Given the description of an element on the screen output the (x, y) to click on. 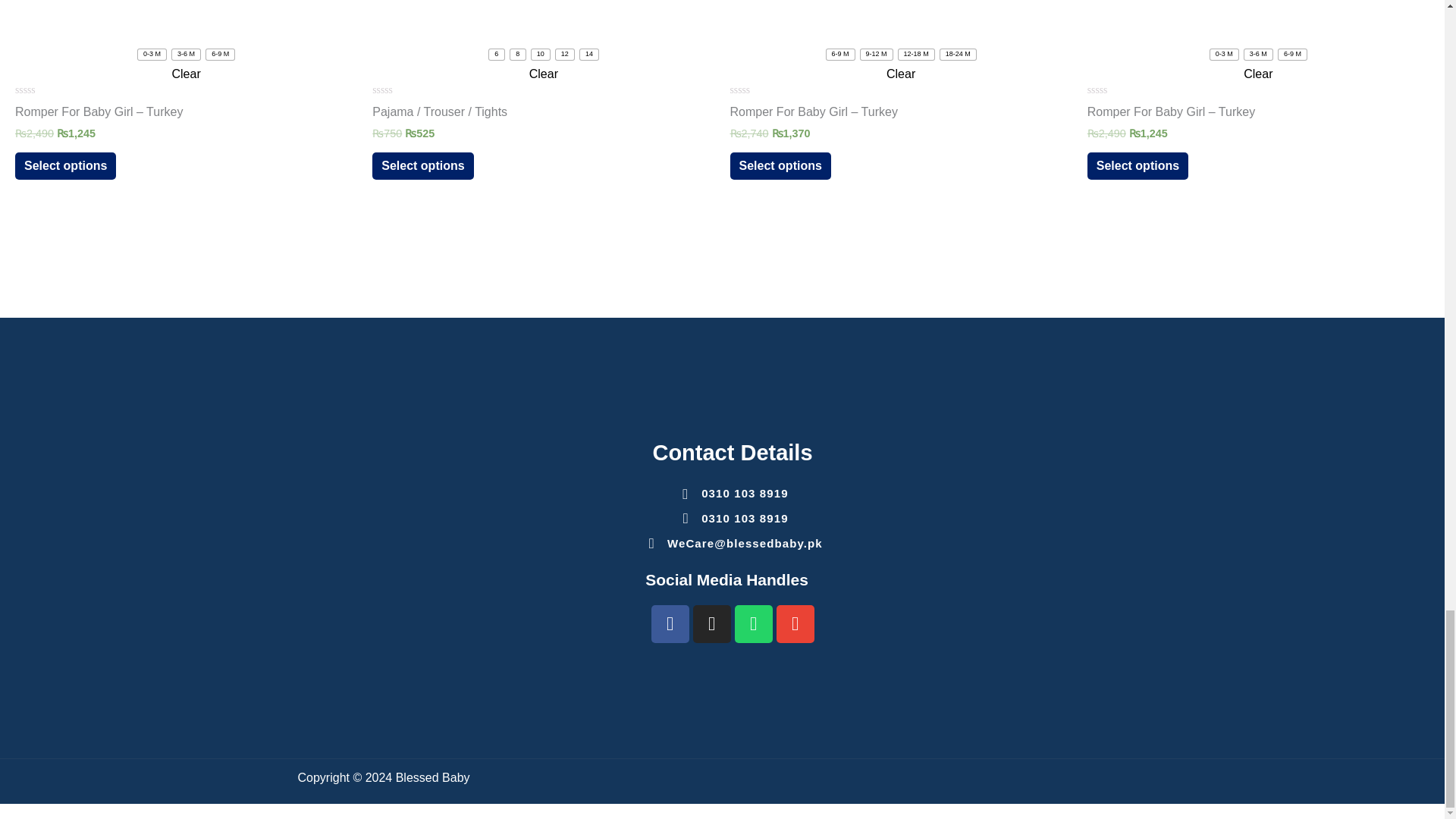
10 (540, 54)
6-9 M (840, 54)
3-6 M (185, 54)
12-18 M (916, 54)
18-24 M (957, 54)
6 (496, 54)
0-3 M (151, 54)
12 (564, 54)
6-9 M (220, 54)
9-12 M (876, 54)
